Given the description of an element on the screen output the (x, y) to click on. 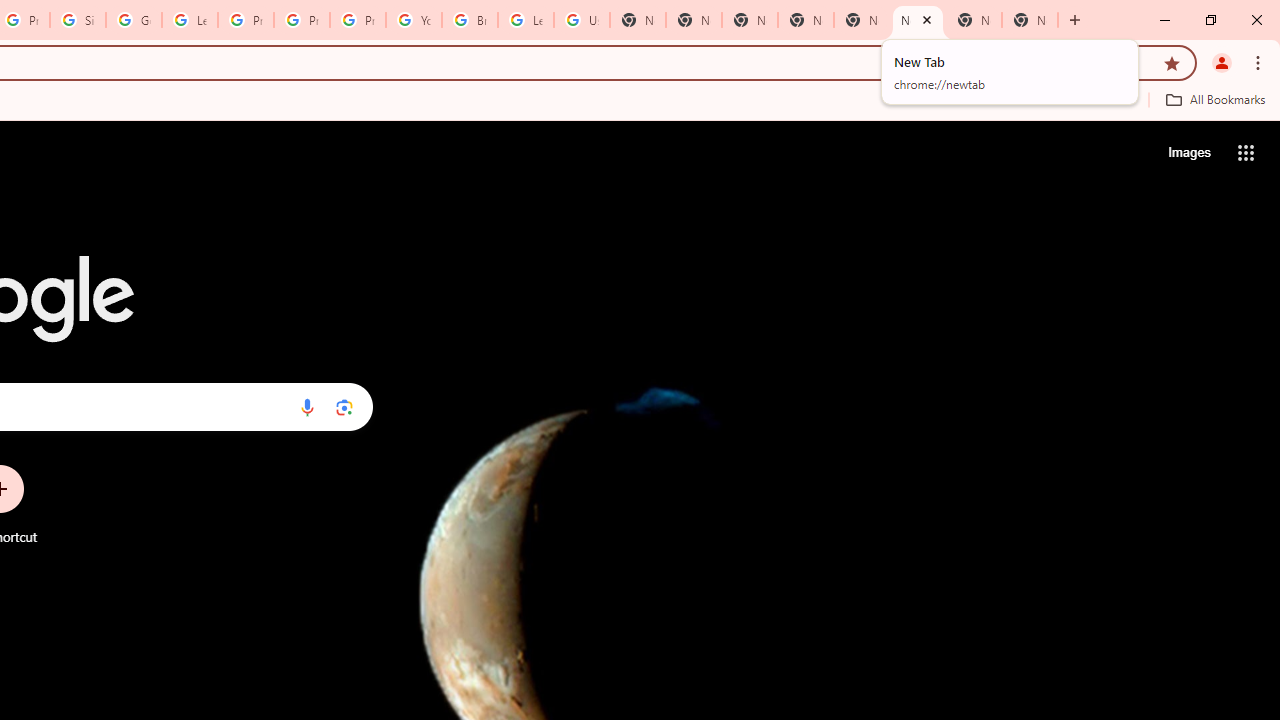
Privacy Help Center - Policies Help (301, 20)
New Tab (1030, 20)
Privacy Help Center - Policies Help (245, 20)
Sign in - Google Accounts (77, 20)
